Given the description of an element on the screen output the (x, y) to click on. 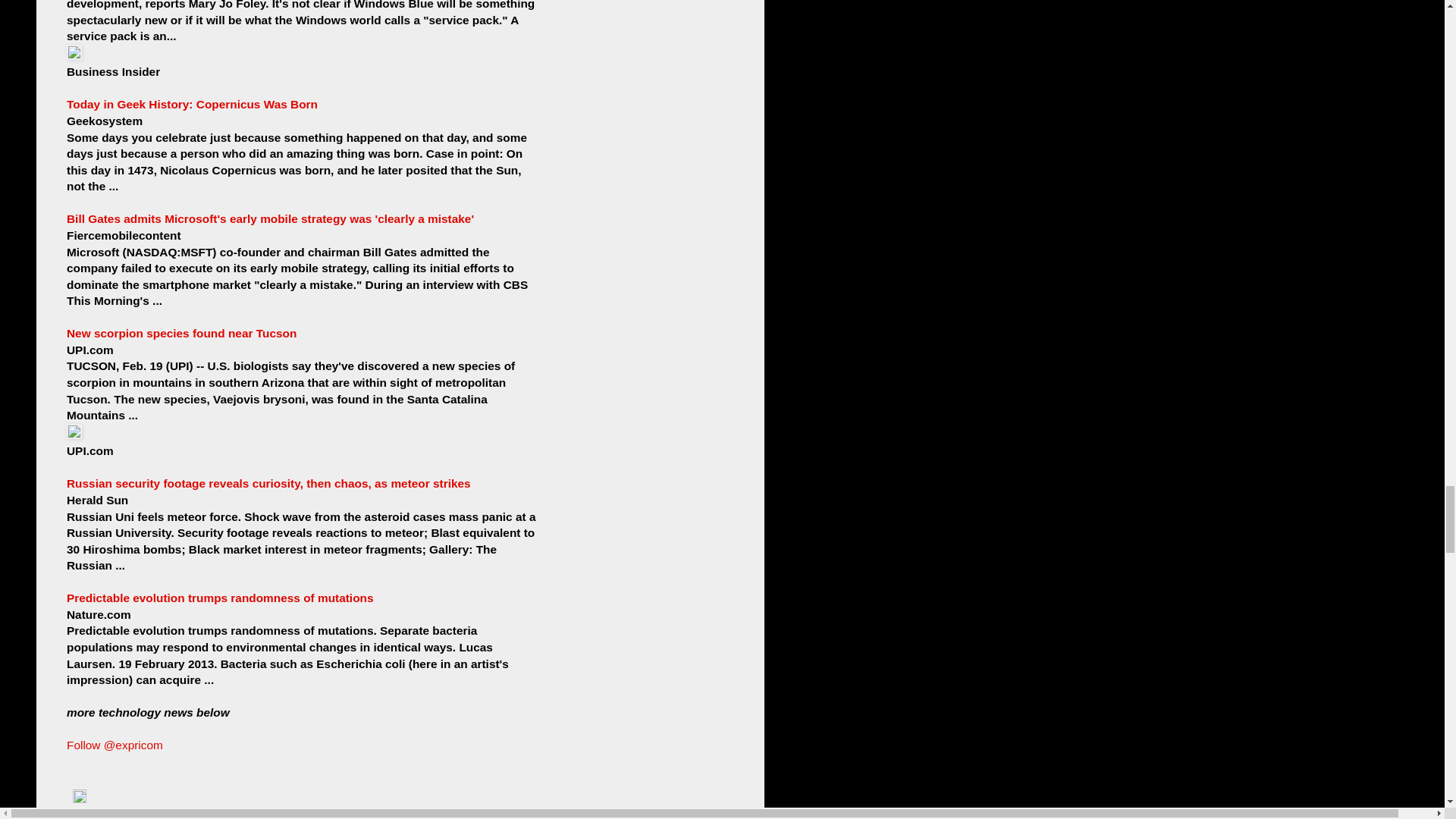
Share to Twitter (190, 814)
BlogThis! (137, 814)
Edit Post (78, 799)
Share to Pinterest (342, 814)
Share to Facebook (264, 814)
Email This (94, 814)
